Given the description of an element on the screen output the (x, y) to click on. 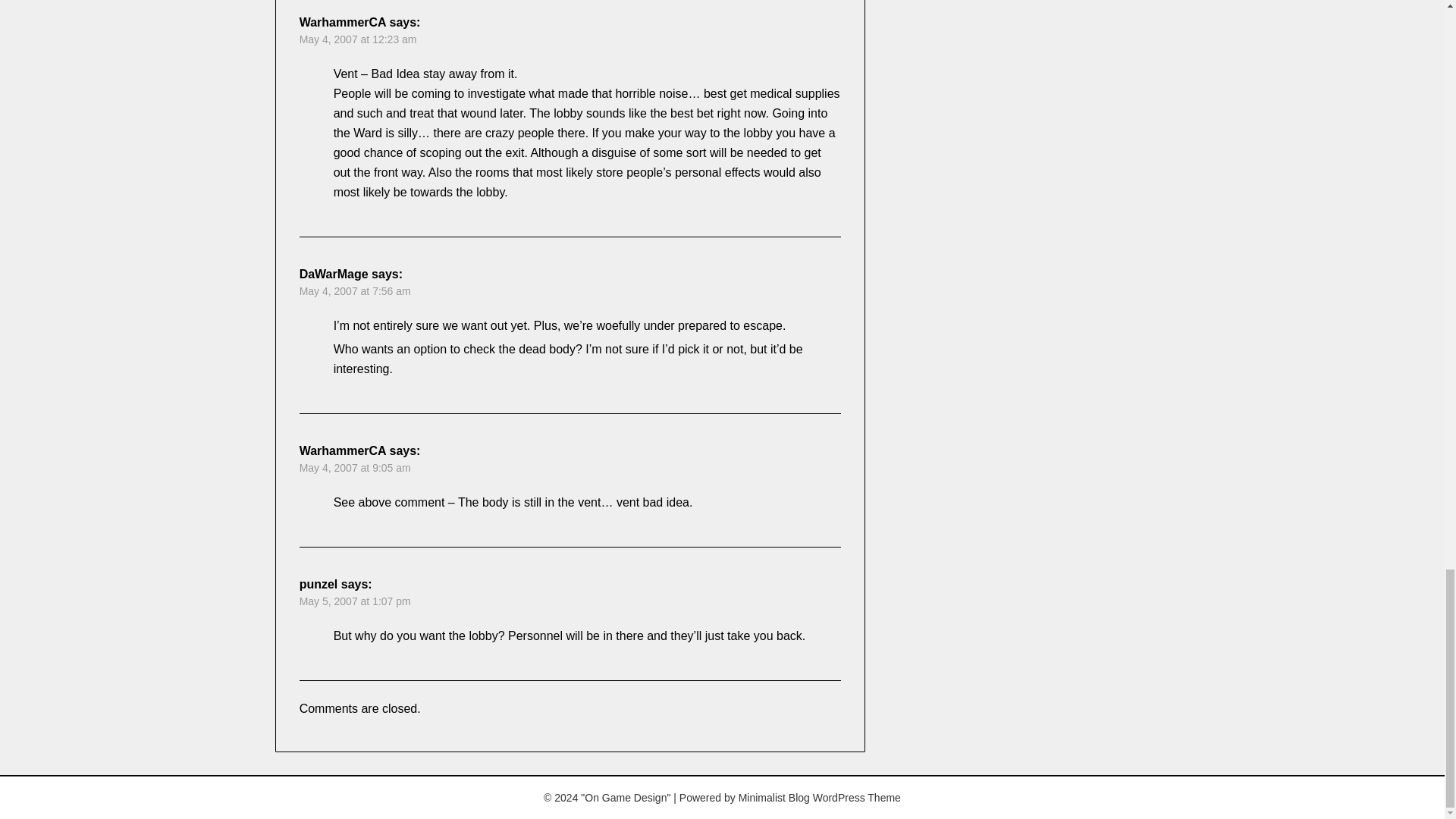
May 4, 2007 at 7:56 am (354, 291)
May 4, 2007 at 12:23 am (357, 39)
May 5, 2007 at 1:07 pm (354, 601)
May 4, 2007 at 9:05 am (354, 467)
Minimalist Blog (773, 797)
